Given the description of an element on the screen output the (x, y) to click on. 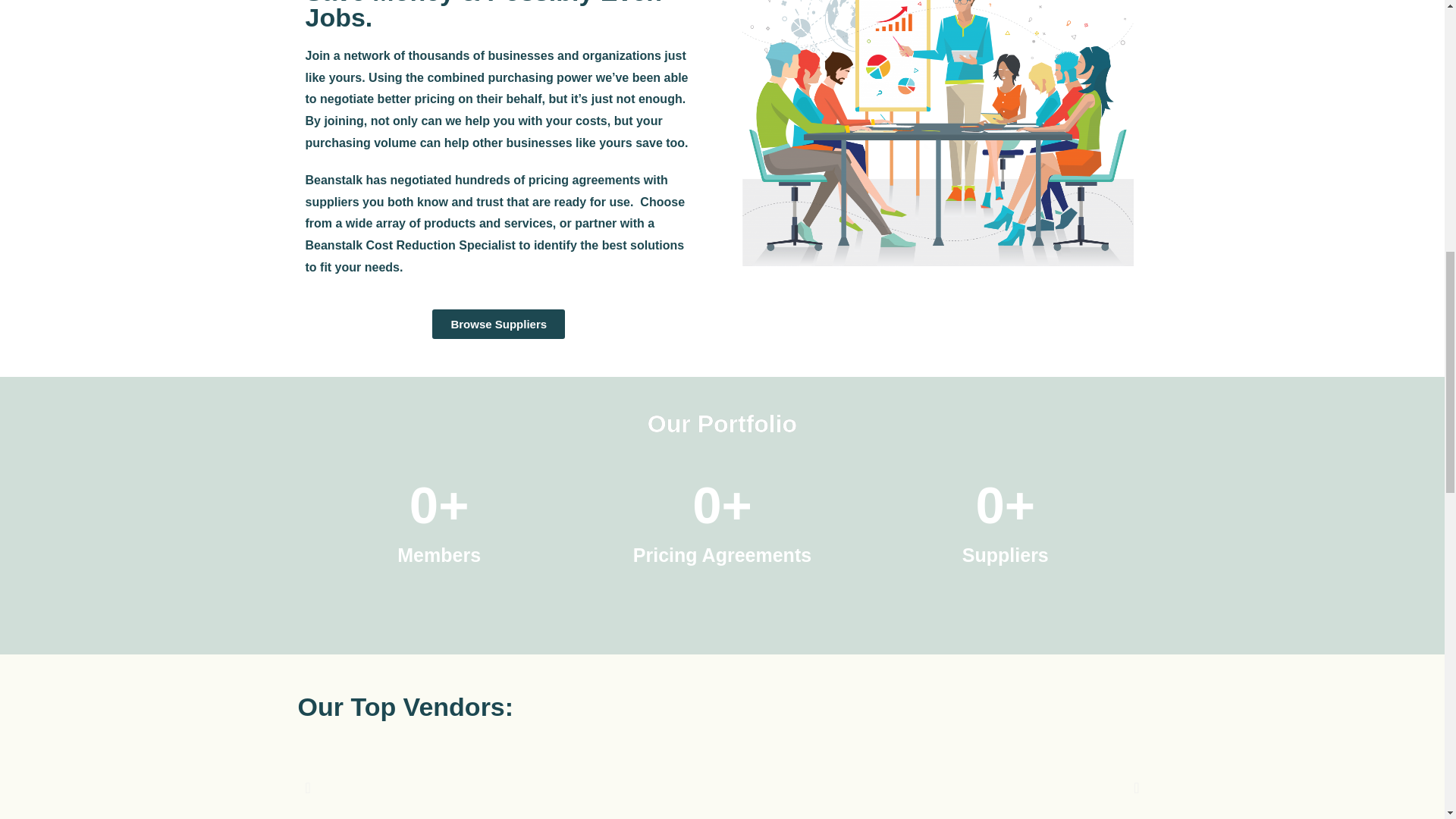
Browse Suppliers (498, 324)
